Given the description of an element on the screen output the (x, y) to click on. 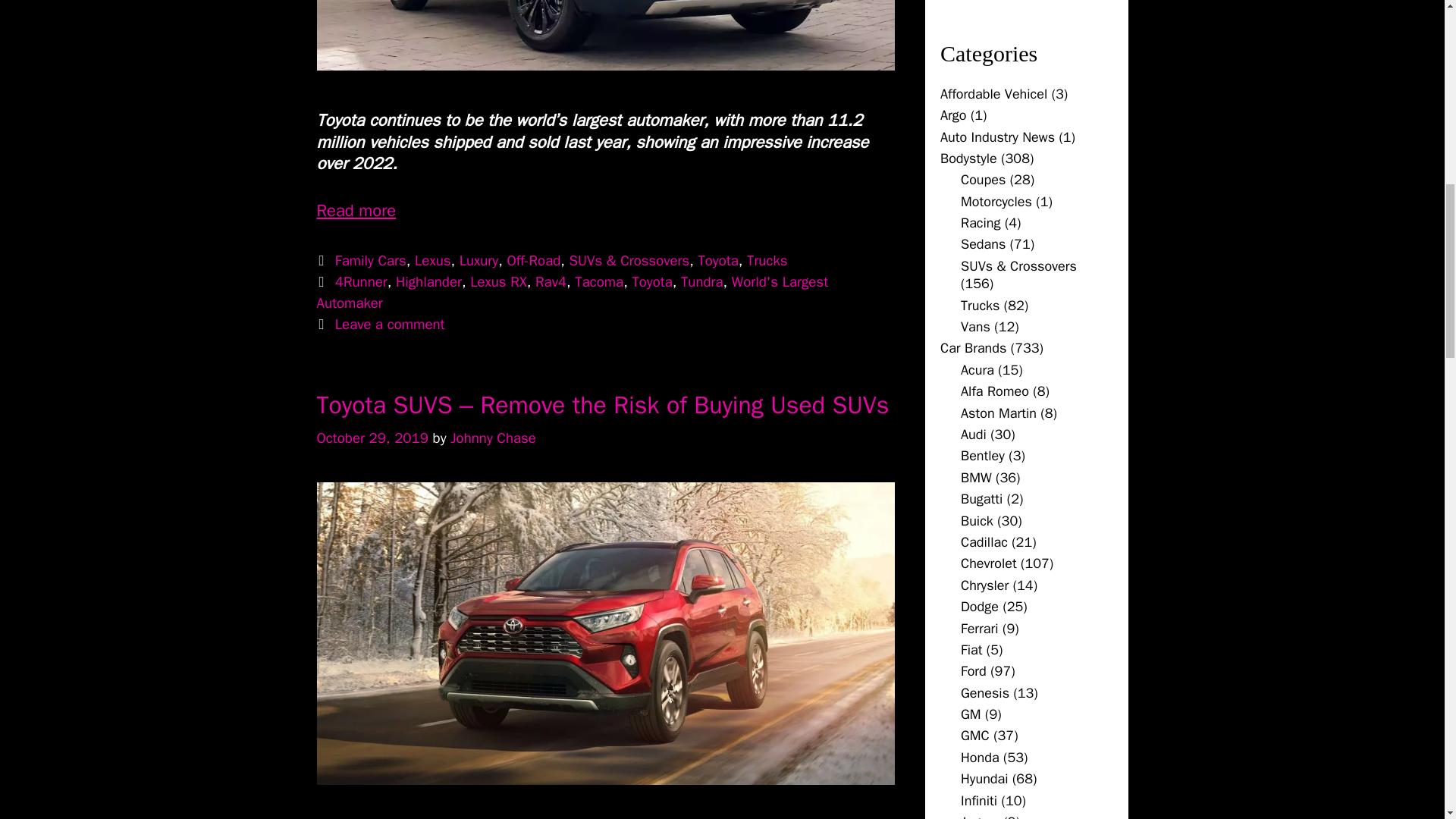
Family Cars (370, 260)
Off-Road (533, 260)
View all posts by Johnny Chase (492, 438)
9:07 am (372, 438)
Luxury (479, 260)
Lexus (431, 260)
